Given the description of an element on the screen output the (x, y) to click on. 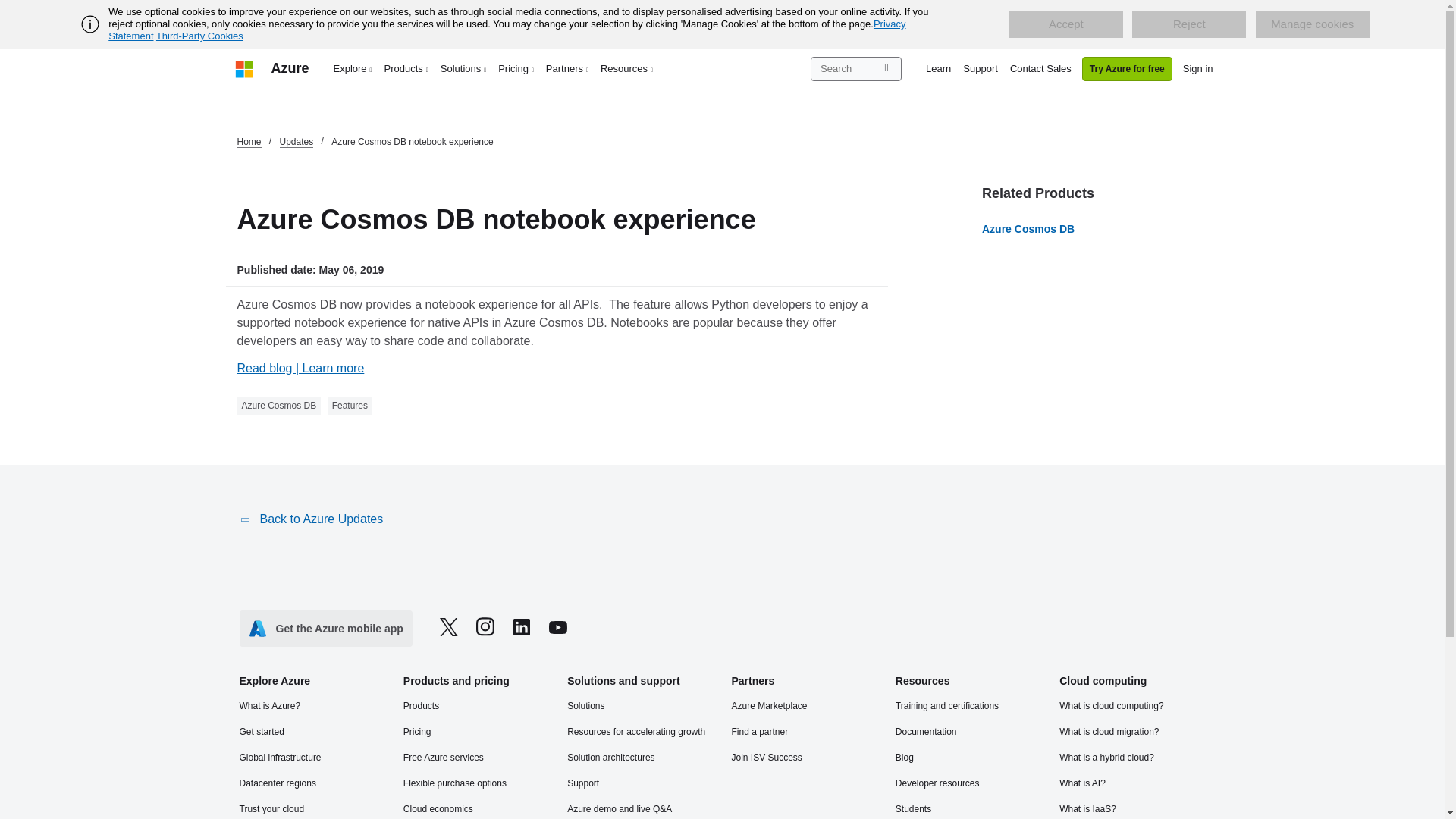
Privacy Statement (506, 29)
Skip to main content (7, 7)
Accept (1065, 23)
Manage cookies (1312, 23)
Explore (352, 68)
Third-Party Cookies (199, 35)
Reject (1189, 23)
Products (405, 68)
Azure (289, 68)
